Given the description of an element on the screen output the (x, y) to click on. 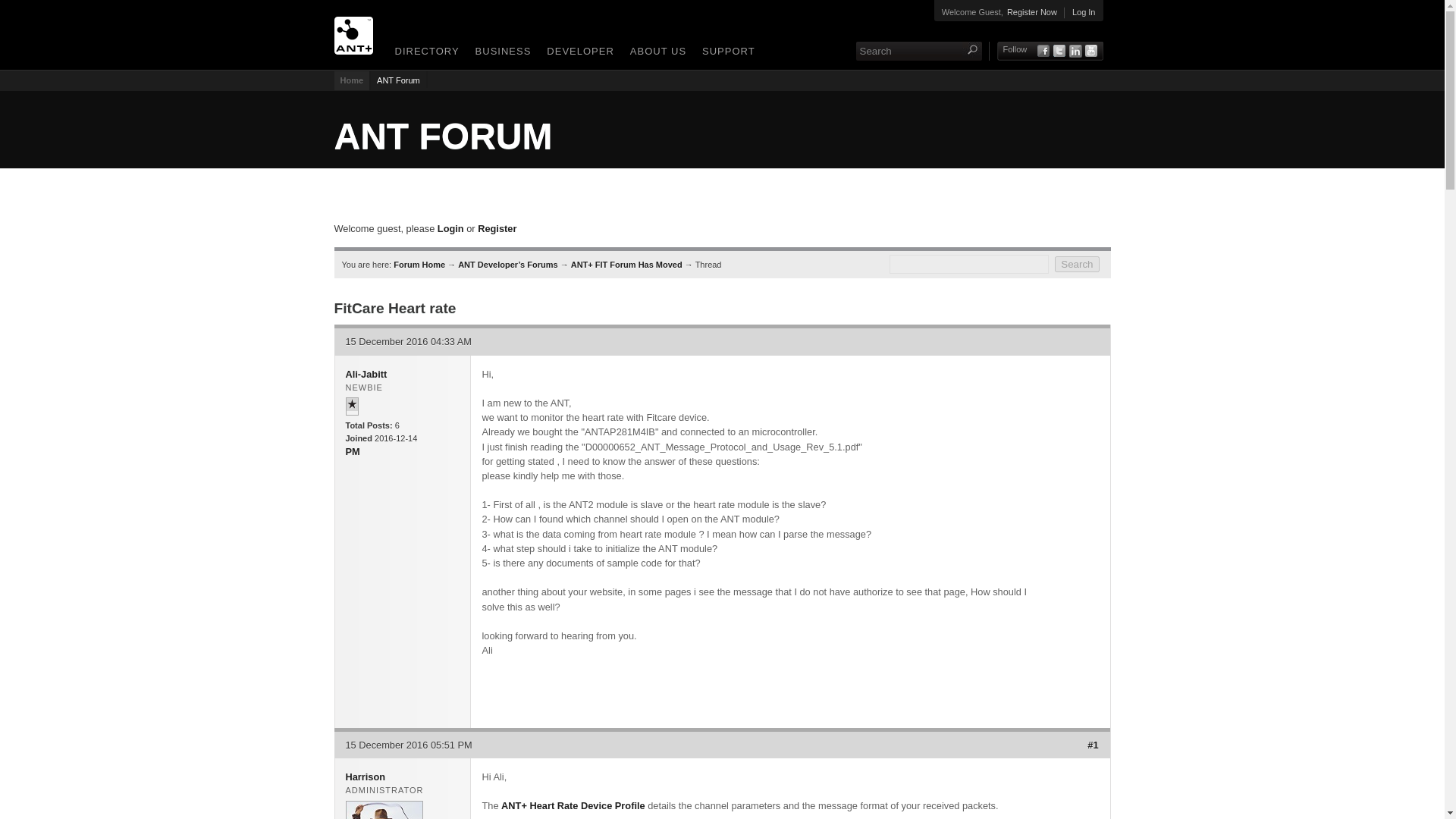
BUSINESS (500, 53)
Search (1076, 263)
Search (908, 50)
DIRECTORY (424, 53)
Permalink to this post (1092, 745)
Log In (1083, 11)
DEVELOPER (576, 53)
Register Now (1032, 11)
ABOUT US (655, 53)
SUPPORT (725, 53)
